Given the description of an element on the screen output the (x, y) to click on. 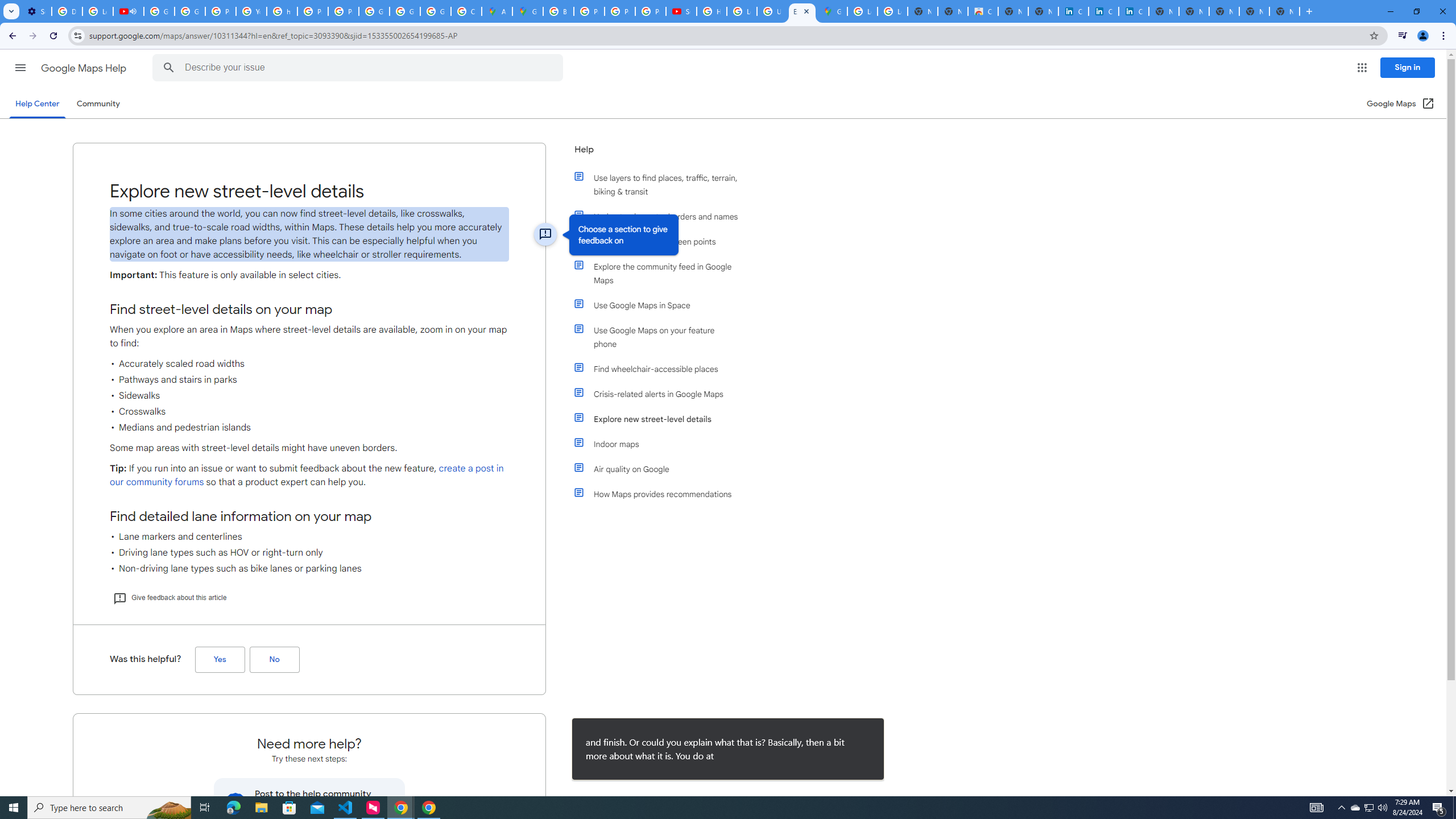
Sidewalks (309, 395)
Medians and pedestrian islands (309, 427)
Important: This feature is only available in select cities. (309, 274)
Cookie Policy | LinkedIn (1072, 11)
Google Maps (527, 11)
